Given the description of an element on the screen output the (x, y) to click on. 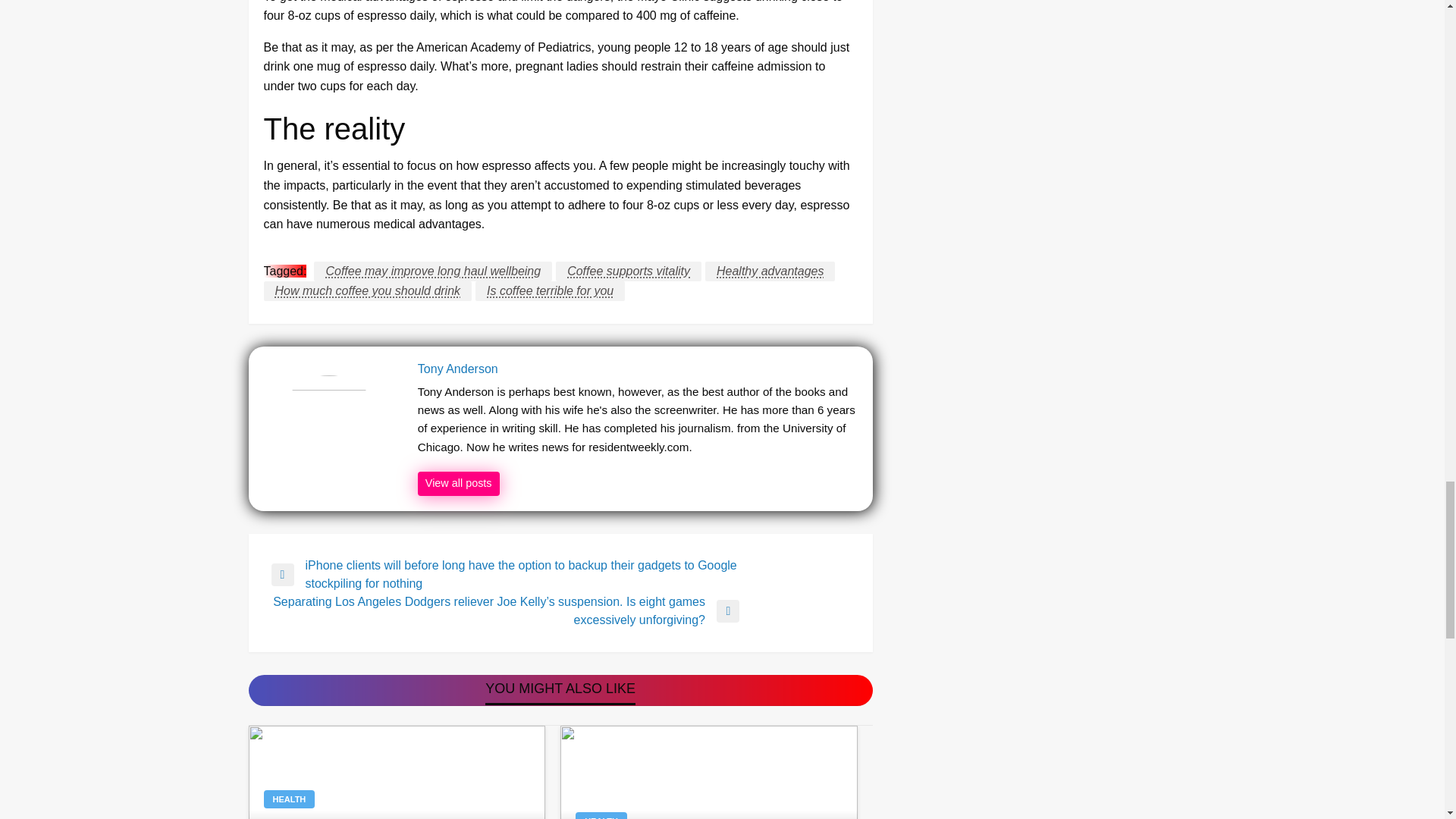
Healthy advantages (769, 271)
Coffee supports vitality (628, 271)
Is coffee terrible for you (550, 291)
Tony Anderson (458, 483)
Coffee may improve long haul wellbeing (432, 271)
Tony Anderson (637, 368)
How much coffee you should drink (367, 291)
